Given the description of an element on the screen output the (x, y) to click on. 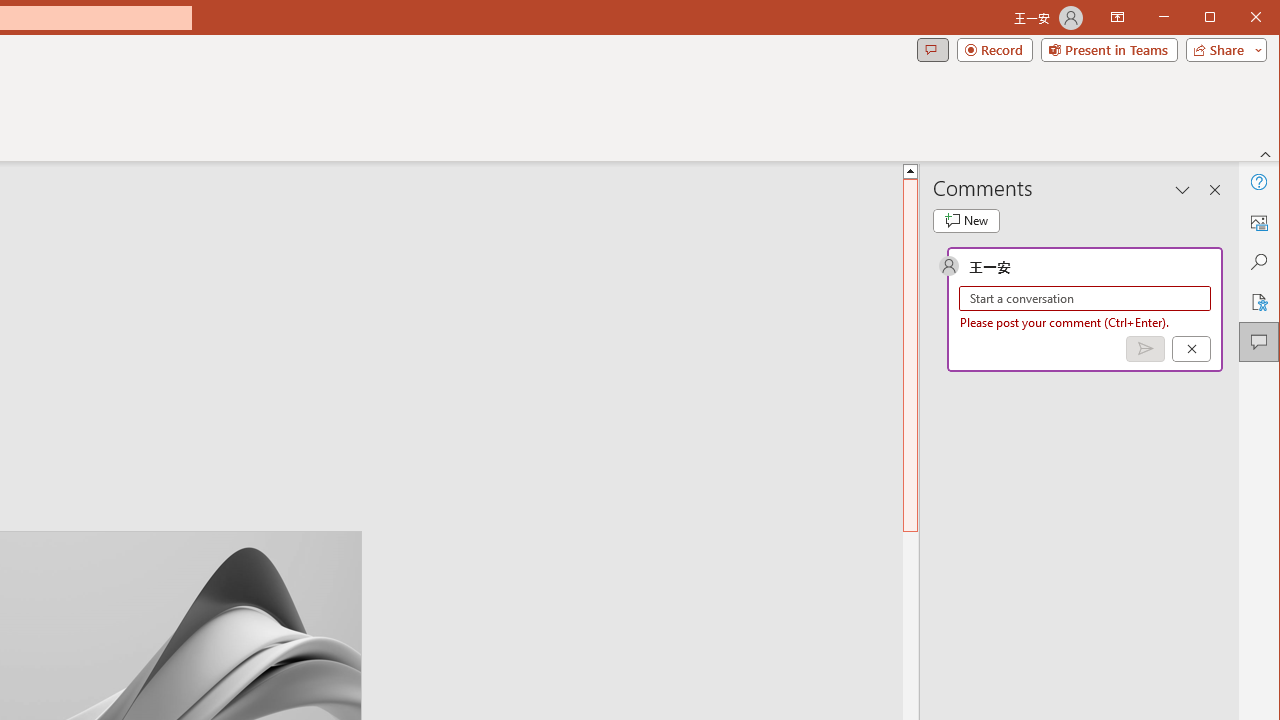
Cancel (1191, 349)
Post comment (Ctrl + Enter) (1145, 349)
